Given the description of an element on the screen output the (x, y) to click on. 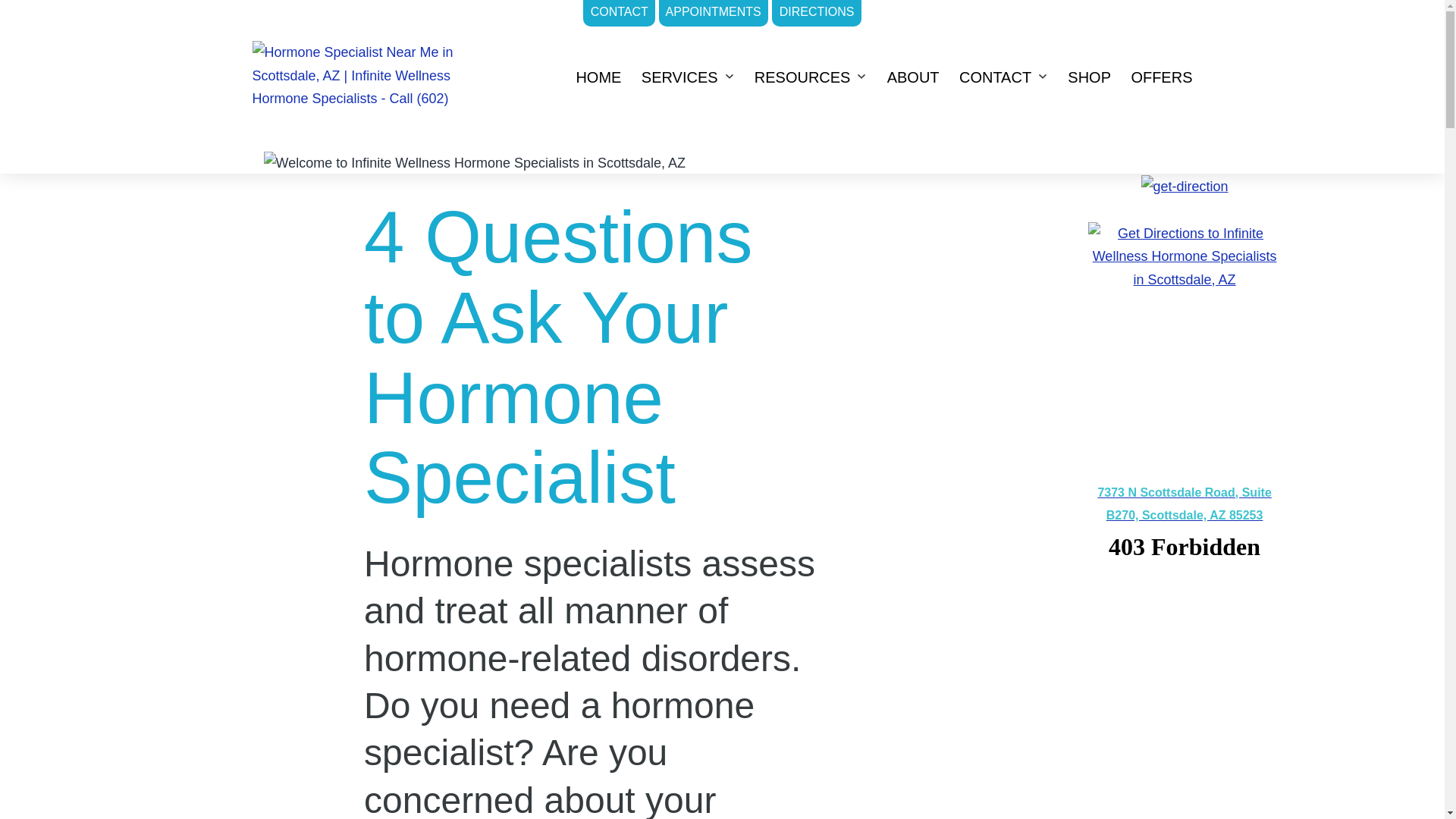
DIRECTIONS (816, 13)
SERVICES (679, 76)
RESOURCES (802, 76)
HOME (598, 76)
CONTACT (619, 13)
APPOINTMENTS (713, 13)
